Given the description of an element on the screen output the (x, y) to click on. 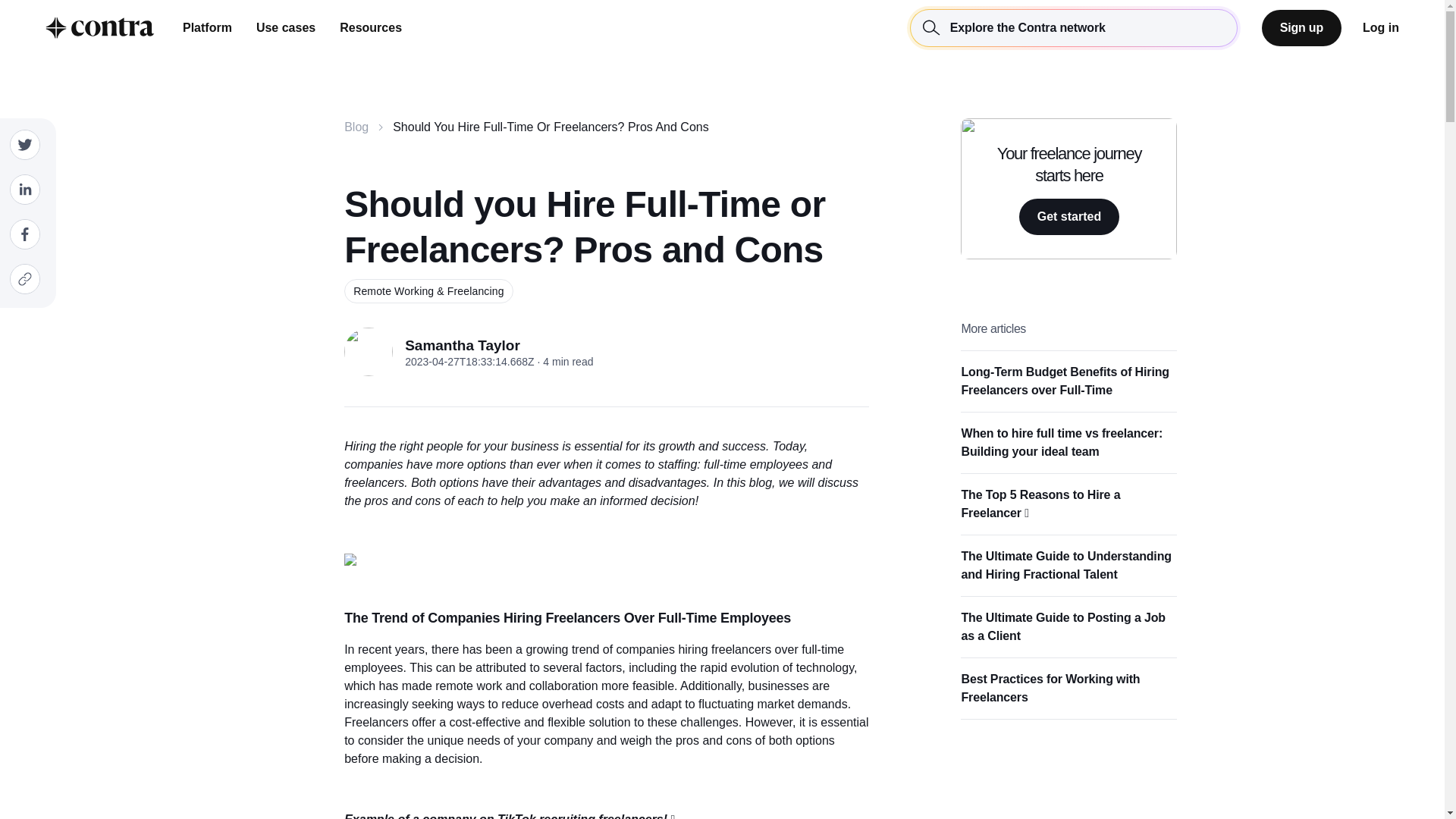
Sign up (1301, 27)
Explore the Contra network (1073, 27)
Log in (1380, 27)
